Given the description of an element on the screen output the (x, y) to click on. 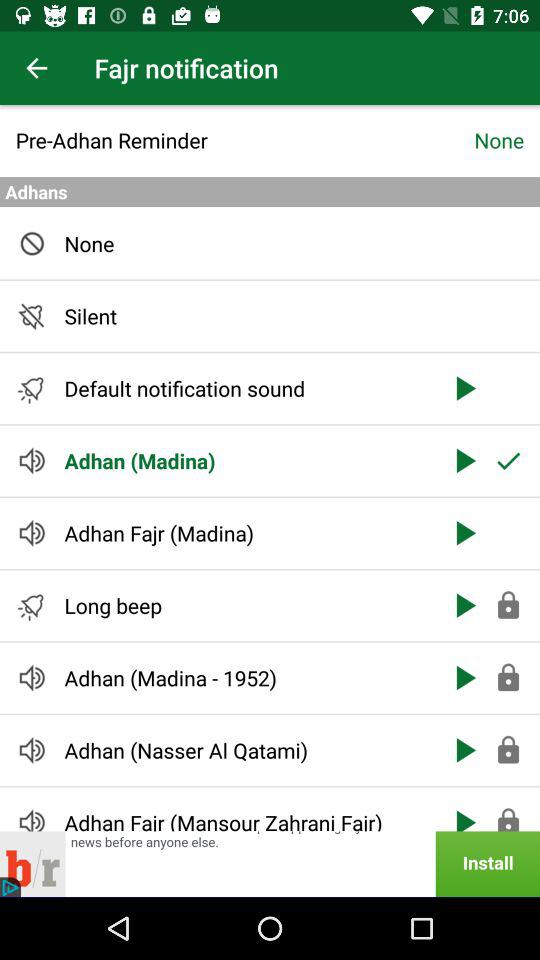
turn off the item below silent item (245, 388)
